Given the description of an element on the screen output the (x, y) to click on. 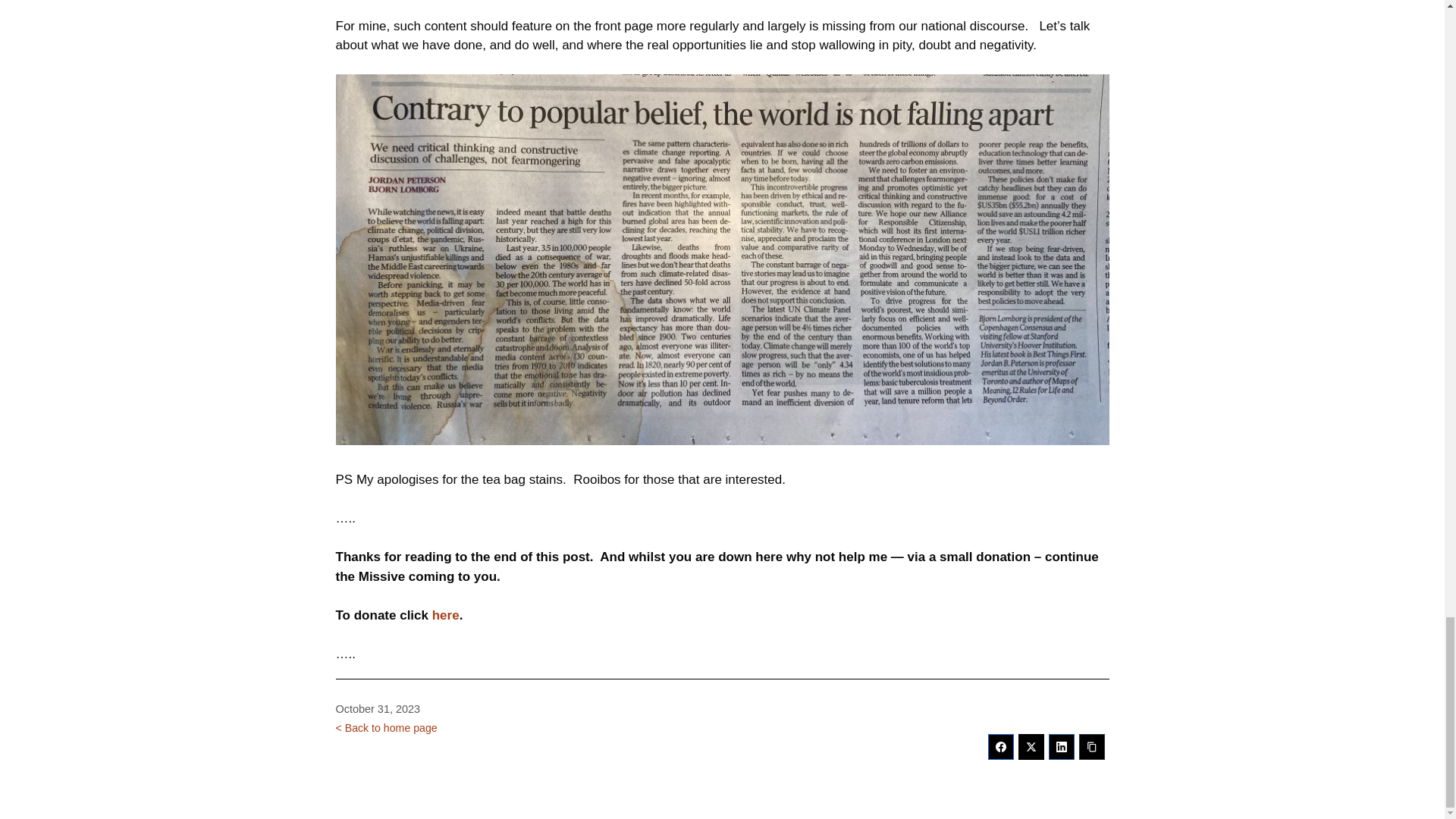
here (446, 615)
